Given the description of an element on the screen output the (x, y) to click on. 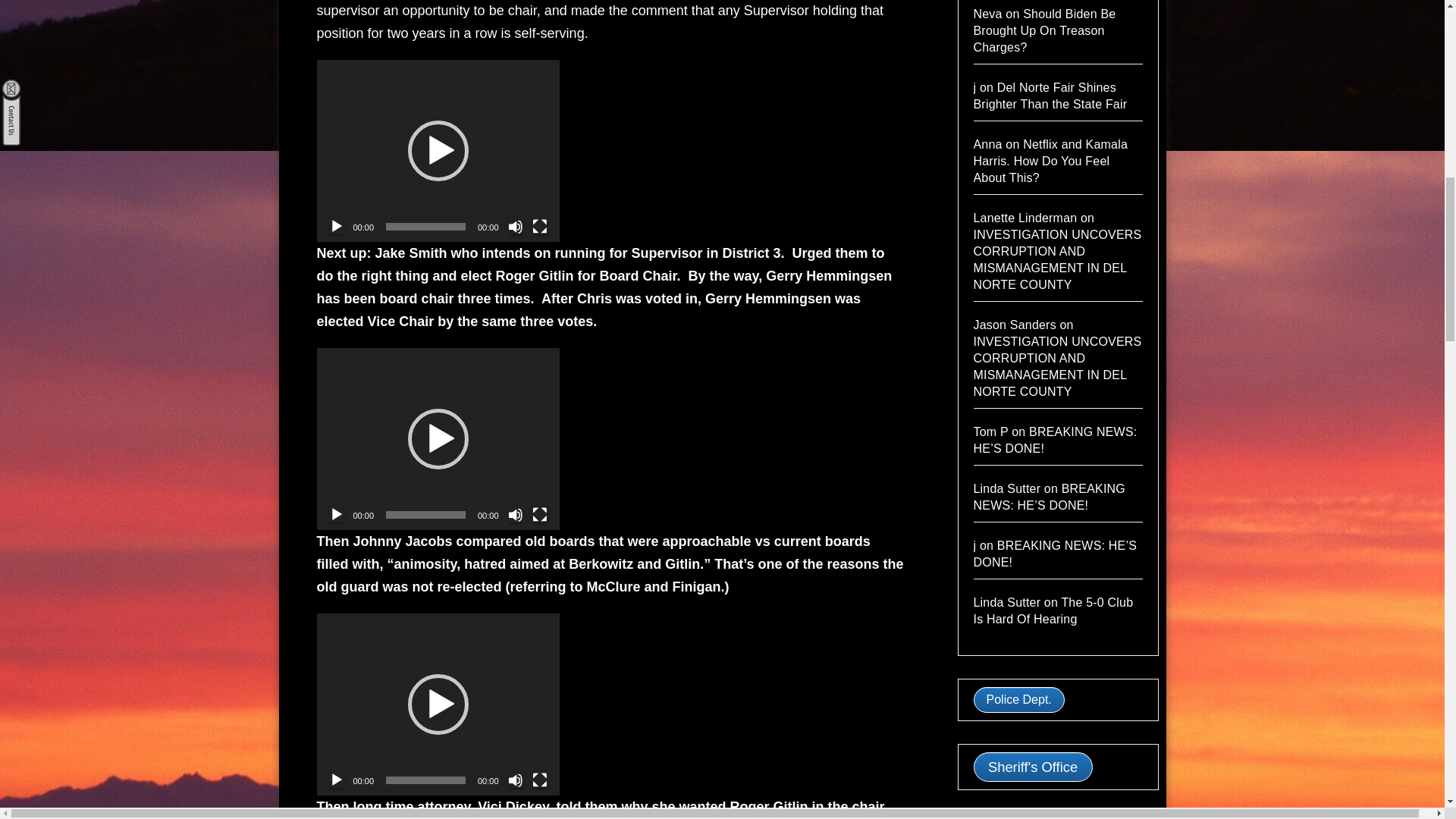
Play (336, 226)
Mute (515, 226)
Mute (515, 514)
Mute (515, 780)
Fullscreen (539, 226)
Play (336, 514)
Play (336, 780)
Fullscreen (539, 514)
Fullscreen (539, 780)
